Given the description of an element on the screen output the (x, y) to click on. 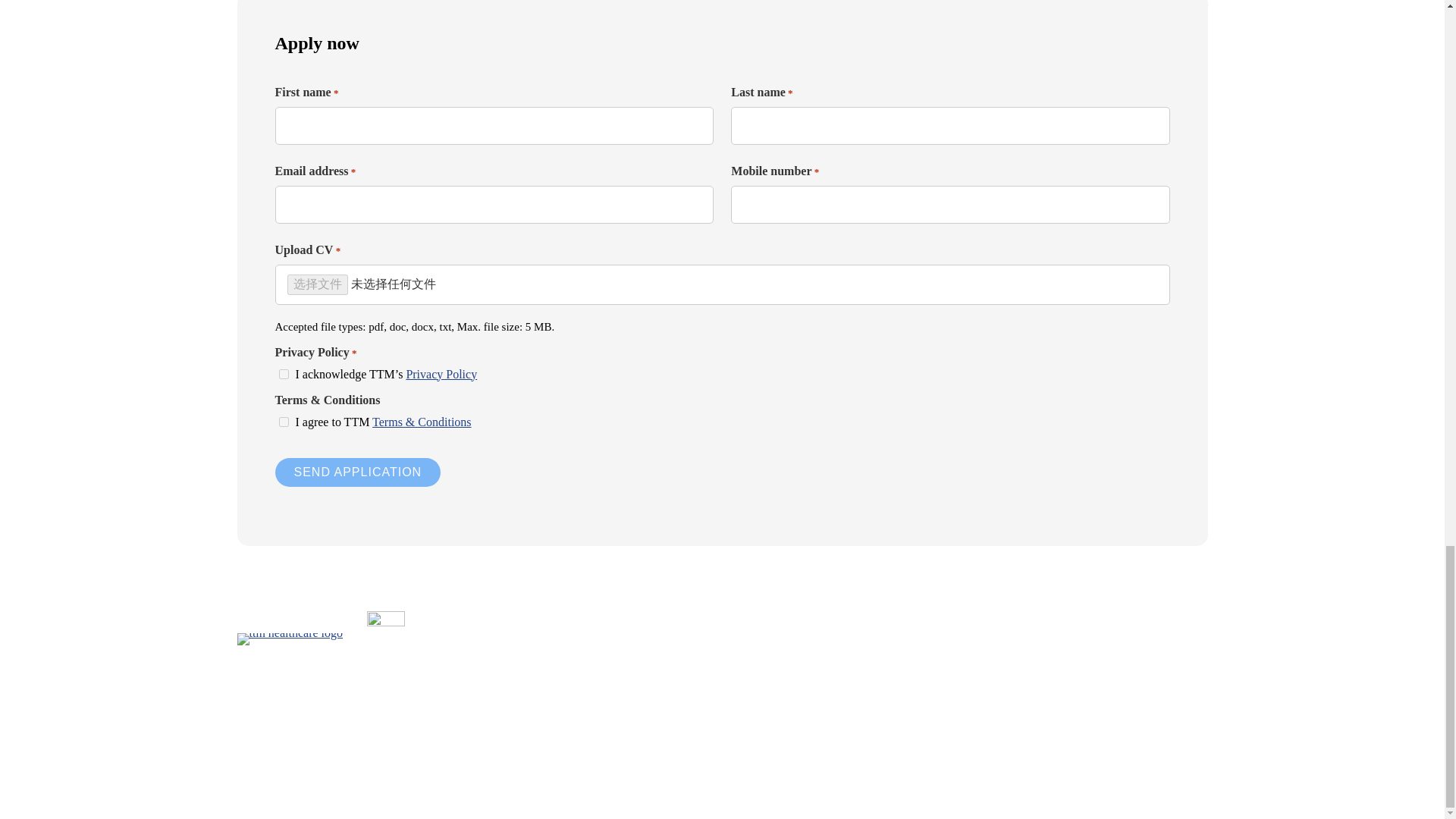
1 (283, 374)
Social Value (862, 762)
Send application (358, 471)
Privacy Policy (441, 373)
Cookie Policy (776, 762)
Data Protection Statement (660, 762)
Send application (358, 471)
1 (283, 421)
Modern Slavery Statement (975, 762)
